Given the description of an element on the screen output the (x, y) to click on. 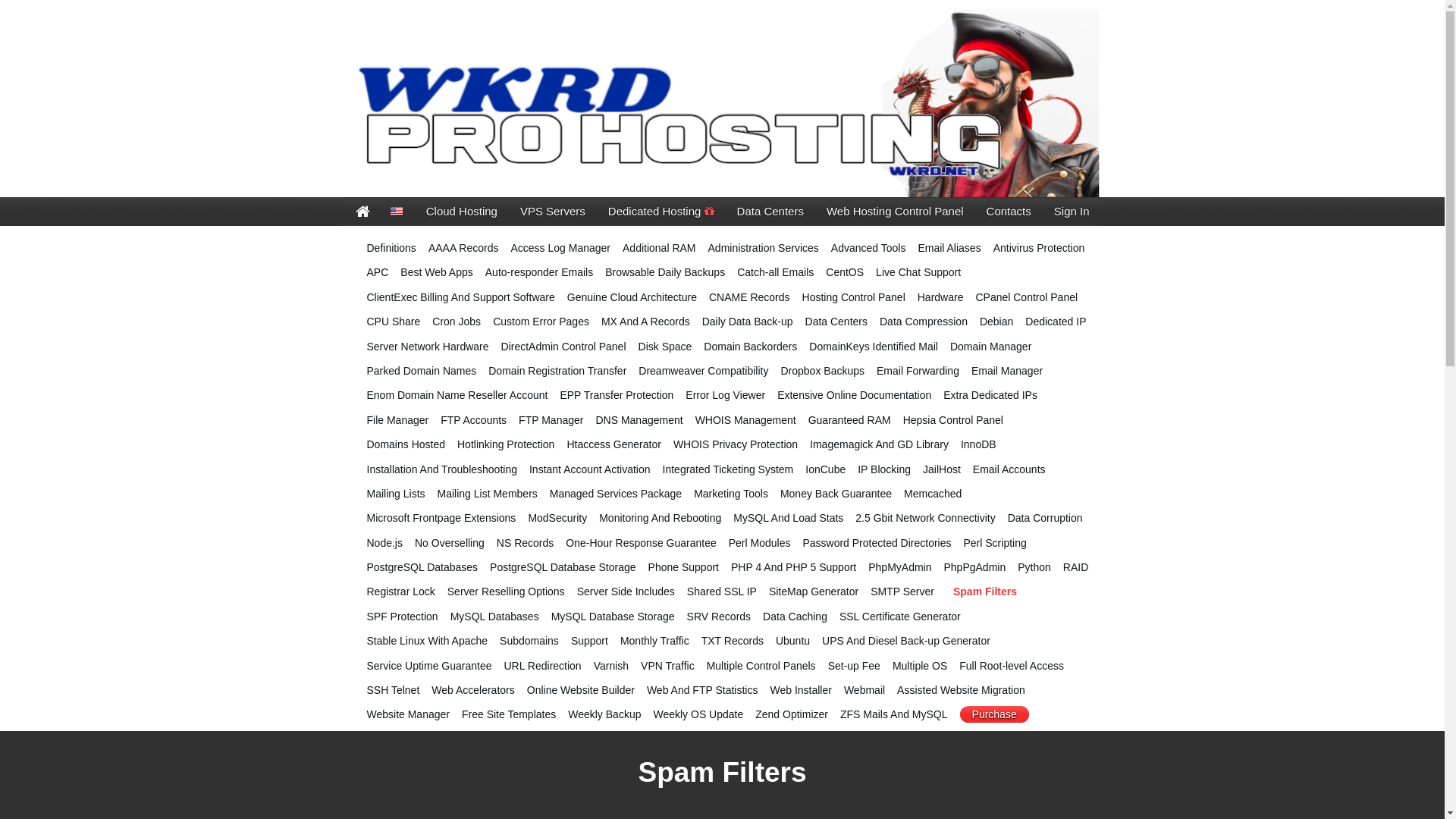
Online Website Builder Element type: text (580, 690)
Antivirus Protection Element type: text (1039, 247)
Hotlinking Protection Element type: text (505, 444)
MX And A Records Element type: text (645, 321)
DirectAdmin Control Panel Element type: text (563, 346)
FTP Accounts Element type: text (473, 420)
Cove Enterprises Element type: hover (361, 211)
Contacts Element type: text (1008, 211)
Custom Error Pages Element type: text (540, 321)
Access Log Manager Element type: text (560, 247)
EPP Transfer Protection Element type: text (616, 395)
Imagemagick And GD Library Element type: text (878, 444)
Mailing List Members Element type: text (487, 493)
IonCube Element type: text (825, 469)
Weekly OS Update Element type: text (697, 714)
Live Chat Support Element type: text (917, 272)
Domain Registration Transfer Element type: text (557, 370)
Monthly Traffic Element type: text (654, 640)
Weekly Backup Element type: text (603, 714)
IP Blocking Element type: text (883, 469)
TXT Records Element type: text (732, 640)
Server Network Hardware Element type: text (428, 346)
Email Accounts Element type: text (1008, 469)
Dreamweaver Compatibility Element type: text (703, 370)
DNS Management Element type: text (638, 420)
VPS Servers Element type: text (552, 211)
Multiple OS Element type: text (919, 665)
Password Protected Directories Element type: text (876, 542)
Domain Manager Element type: text (990, 346)
CPanel Control Panel Element type: text (1026, 297)
MySQL Databases Element type: text (494, 616)
Integrated Ticketing System Element type: text (727, 469)
No Overselling Element type: text (449, 542)
Stable Linux With Apache Element type: text (427, 640)
AAAA Records Element type: text (463, 247)
Perl Scripting Element type: text (994, 542)
Monitoring And Rebooting Element type: text (660, 517)
Dropbox Backups Element type: text (822, 370)
Data Centers Element type: text (836, 321)
PHP 4 And PHP 5 Support Element type: text (793, 567)
File Manager Element type: text (398, 420)
One-Hour Response Guarantee Element type: text (640, 542)
Domains Hosted Element type: text (406, 444)
Service Uptime Guarantee Element type: text (429, 665)
Subdomains Element type: text (528, 640)
Cove Enterprises Element type: hover (721, 102)
SSL Certificate Generator Element type: text (899, 616)
CPU Share Element type: text (393, 321)
Varnish Element type: text (610, 665)
Email Forwarding Element type: text (917, 370)
Genuine Cloud Architecture Element type: text (631, 297)
Hepsia Control Panel Element type: text (953, 420)
Phone Support Element type: text (683, 567)
SMTP Server Element type: text (902, 591)
PhpPgAdmin Element type: text (974, 567)
Webmail Element type: text (864, 690)
Data Compression Element type: text (923, 321)
Perl Modules Element type: text (759, 542)
Extensive Online Documentation Element type: text (854, 395)
Error Log Viewer Element type: text (725, 395)
Email Aliases Element type: text (948, 247)
InnoDB Element type: text (978, 444)
Node.js Element type: text (384, 542)
URL Redirection Element type: text (541, 665)
Registrar Lock Element type: text (401, 591)
PhpMyAdmin Element type: text (899, 567)
Data Centers Element type: text (770, 211)
SSH Telnet Element type: text (393, 690)
Guaranteed RAM Element type: text (849, 420)
Disk Space Element type: text (665, 346)
Additional RAM Element type: text (659, 247)
UPS And Diesel Back-up Generator Element type: text (906, 640)
FTP Manager Element type: text (550, 420)
WHOIS Management Element type: text (745, 420)
RAID Element type: text (1075, 567)
Htaccess Generator Element type: text (613, 444)
Web Installer Element type: text (800, 690)
Assisted Website Migration Element type: text (961, 690)
Server Side Includes Element type: text (625, 591)
Instant Account Activation Element type: text (589, 469)
Catch-all Emails Element type: text (775, 272)
Python Element type: text (1034, 567)
Server Reselling Options Element type: text (505, 591)
Parked Domain Names Element type: text (421, 370)
Purchase Element type: text (994, 714)
Shared SSL IP Element type: text (721, 591)
PostgreSQL Database Storage Element type: text (562, 567)
MySQL And Load Stats Element type: text (788, 517)
APC Element type: text (378, 272)
Web Hosting Control Panel Element type: text (895, 211)
Administration Services Element type: text (763, 247)
Web Accelerators Element type: text (472, 690)
Browsable Daily Backups Element type: text (664, 272)
Microsoft Frontpage Extensions Element type: text (441, 517)
DomainKeys Identified Mail Element type: text (873, 346)
Sign In Element type: text (1071, 211)
CNAME Records Element type: text (749, 297)
SiteMap Generator Element type: text (813, 591)
Dedicated IP Element type: text (1055, 321)
Extra Dedicated IPs Element type: text (990, 395)
Data Caching Element type: text (794, 616)
Cron Jobs Element type: text (456, 321)
Data Corruption Element type: text (1044, 517)
SRV Records Element type: text (719, 616)
Domain Backorders Element type: text (750, 346)
Daily Data Back-up Element type: text (747, 321)
Marketing Tools Element type: text (730, 493)
MySQL Database Storage Element type: text (612, 616)
Email Manager Element type: text (1006, 370)
Full Root-level Access Element type: text (1011, 665)
ClientExec Billing And Support Software Element type: text (461, 297)
Zend Optimizer Element type: text (791, 714)
ZFS Mails And MySQL Element type: text (893, 714)
Advanced Tools Element type: text (868, 247)
Support Element type: text (589, 640)
NS Records Element type: text (524, 542)
Free Site Templates Element type: text (508, 714)
Ubuntu Element type: text (792, 640)
2.5 Gbit Network Connectivity Element type: text (924, 517)
Enom Domain Name Reseller Account Element type: text (457, 395)
PostgreSQL Databases Element type: text (422, 567)
Definitions Element type: text (391, 247)
Installation And Troubleshooting Element type: text (442, 469)
ModSecurity Element type: text (556, 517)
Mailing Lists Element type: text (396, 493)
Set-up Fee Element type: text (854, 665)
Cloud Hosting Element type: text (461, 211)
Spam Filters Element type: text (984, 591)
Managed Services Package Element type: text (615, 493)
JailHost Element type: text (941, 469)
Hosting Control Panel Element type: text (853, 297)
SPF Protection Element type: text (402, 616)
VPN Traffic Element type: text (667, 665)
Dedicated Hosting Element type: text (660, 211)
Best Web Apps Element type: text (436, 272)
Website Manager Element type: text (408, 714)
WHOIS Privacy Protection Element type: text (735, 444)
Multiple Control Panels Element type: text (760, 665)
Money Back Guarantee Element type: text (835, 493)
Memcached Element type: text (932, 493)
Debian Element type: text (996, 321)
Web And FTP Statistics Element type: text (702, 690)
Auto-responder Emails Element type: text (539, 272)
Hardware Element type: text (940, 297)
CentOS Element type: text (844, 272)
